Given the description of an element on the screen output the (x, y) to click on. 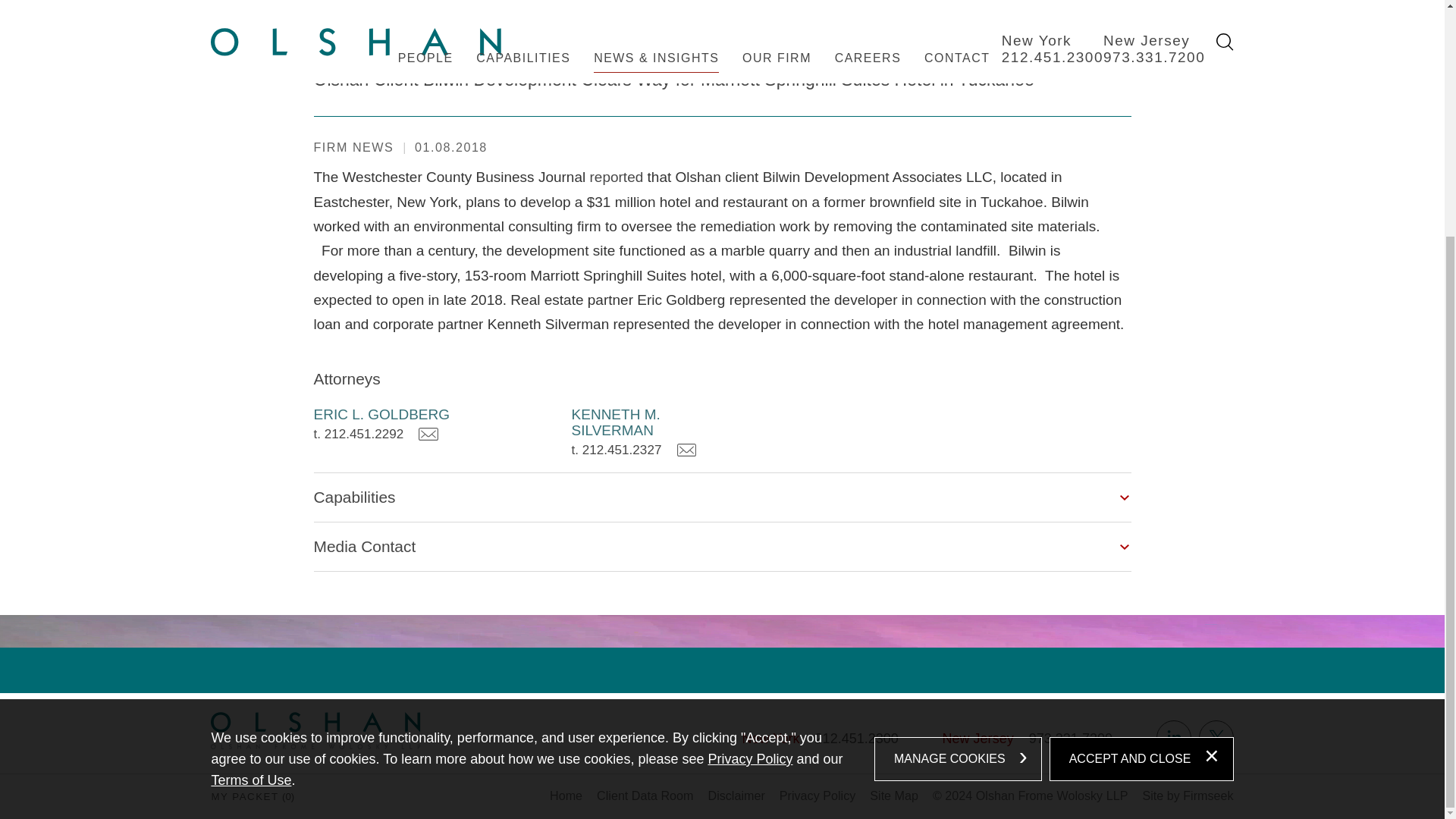
Linkedin (1173, 737)
Footer Logo (315, 730)
Twitter (1215, 737)
Linkedin (1173, 737)
